Given the description of an element on the screen output the (x, y) to click on. 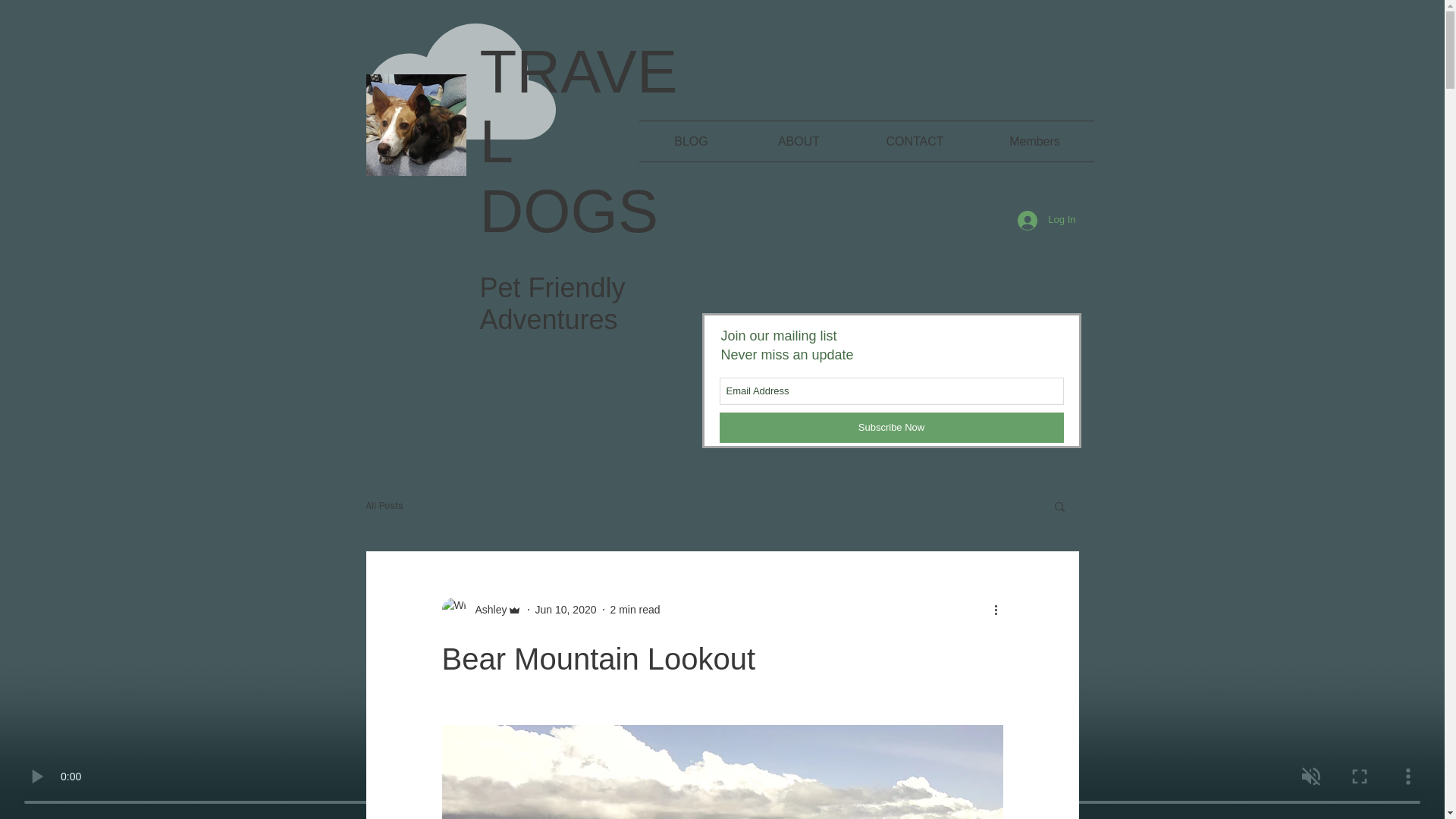
2 min read (634, 609)
Ashley (481, 609)
BLOG (690, 141)
All Posts (384, 505)
Log In (1046, 220)
Jun 10, 2020 (565, 609)
Subscribe Now (890, 427)
Members (1034, 141)
Ashley (485, 609)
CONTACT (914, 141)
ABOUT (797, 141)
